Given the description of an element on the screen output the (x, y) to click on. 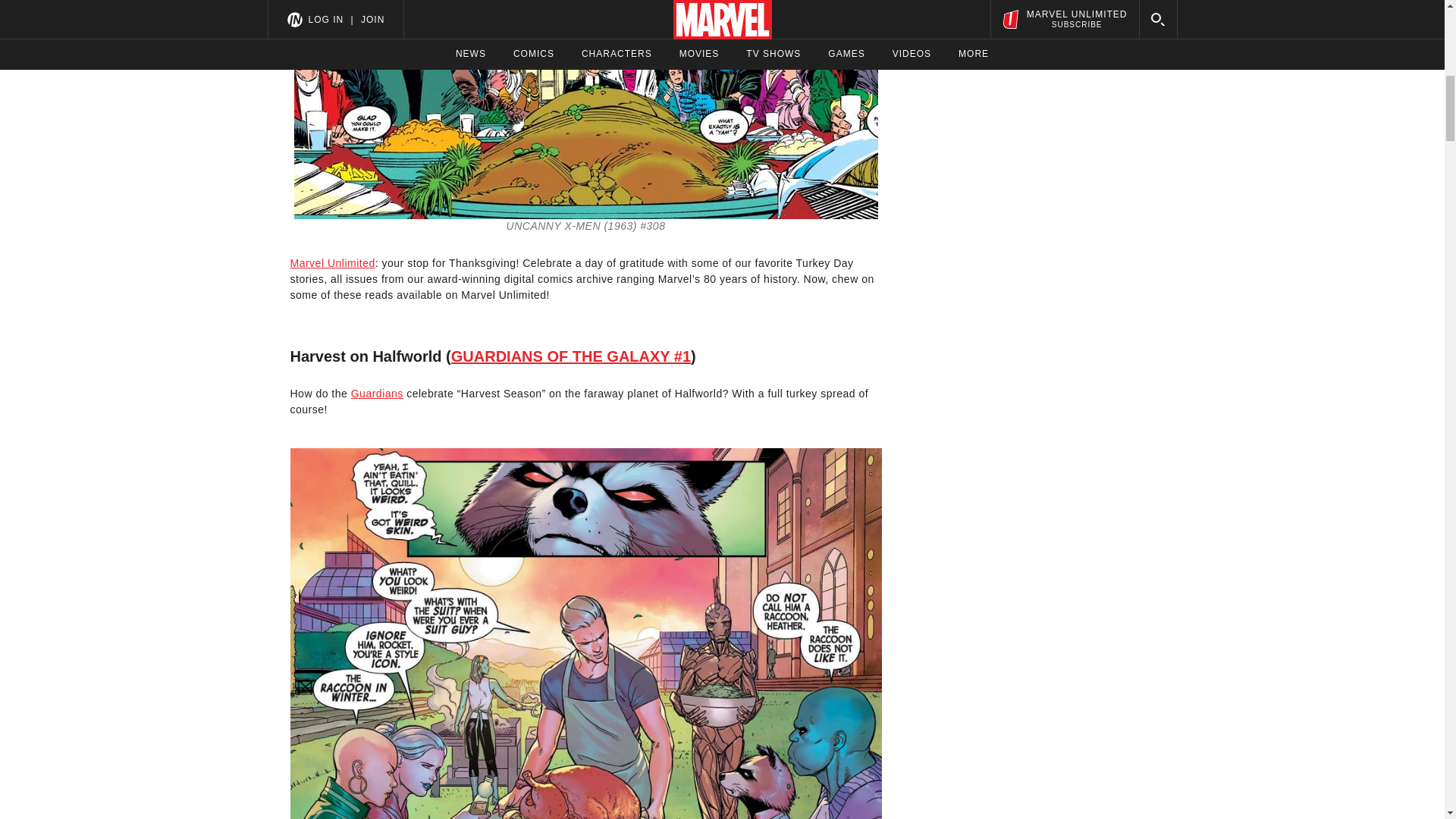
Guardians (376, 393)
Marvel Unlimited (331, 263)
